Given the description of an element on the screen output the (x, y) to click on. 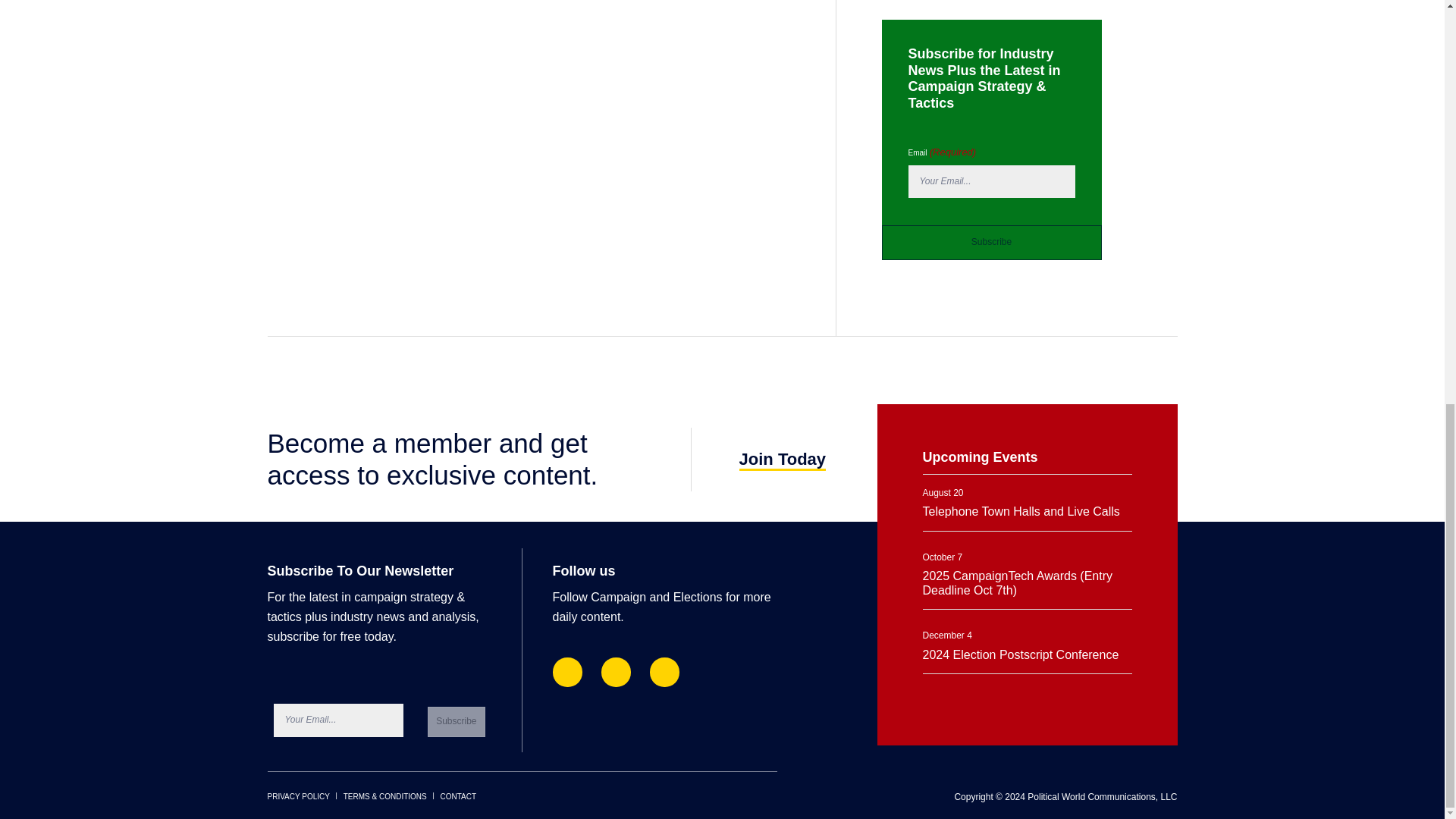
LinkedIn (615, 672)
Twitter (663, 672)
Facebook (566, 672)
Subscribe (990, 242)
Subscribe (456, 721)
